Given the description of an element on the screen output the (x, y) to click on. 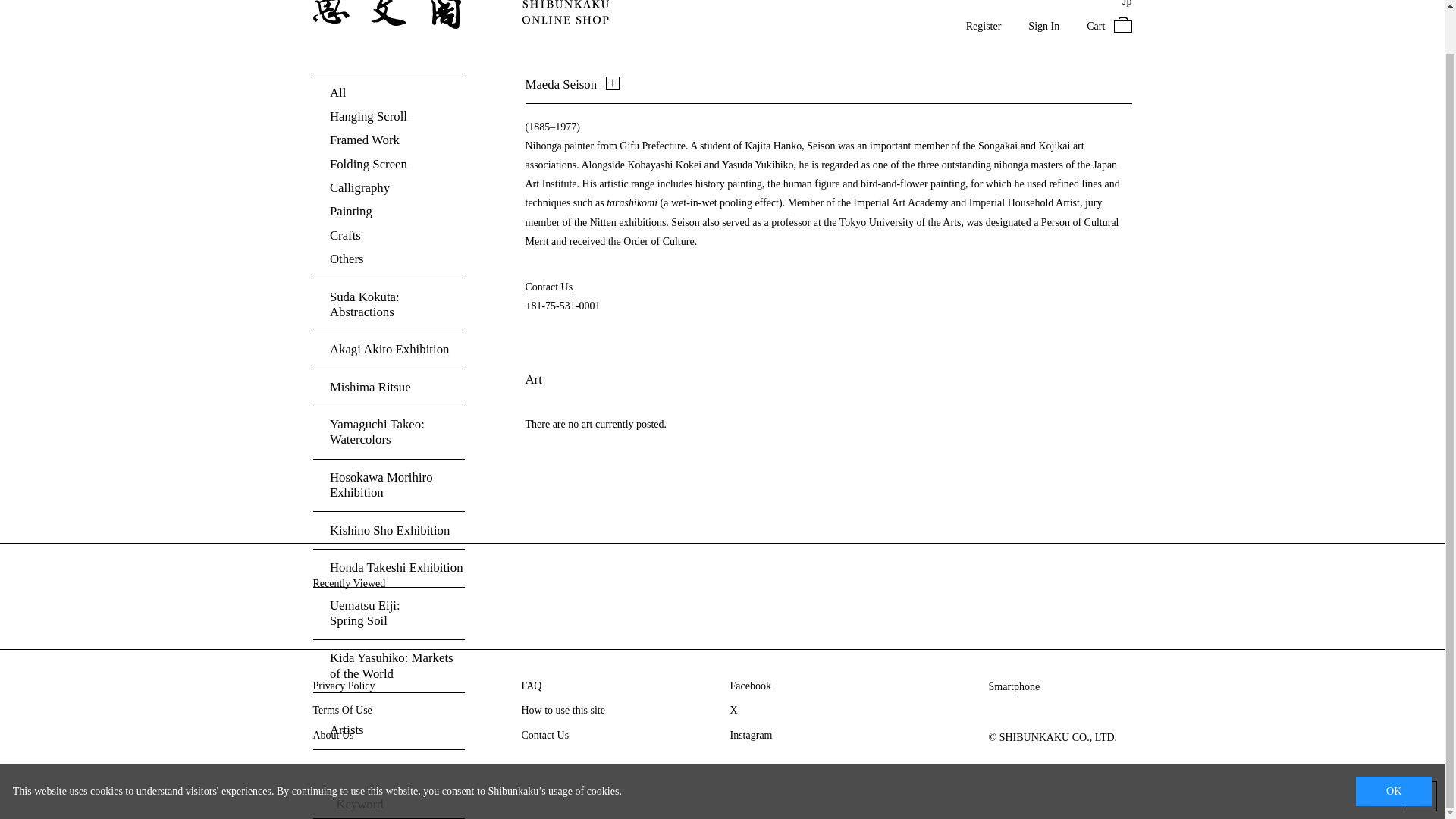
FAQ (531, 686)
Hanging Scroll (388, 116)
Calligraphy (388, 187)
Painting (388, 211)
Kida Yasuhiko: Markets of the World (388, 665)
Jp (1126, 3)
Folding Screen (388, 164)
Terms Of Use (342, 710)
Akagi Akito Exhibition (388, 349)
About Us (333, 735)
Contact Us (545, 735)
Register (983, 25)
Cart (1108, 25)
Artists (388, 729)
Others (388, 258)
